Given the description of an element on the screen output the (x, y) to click on. 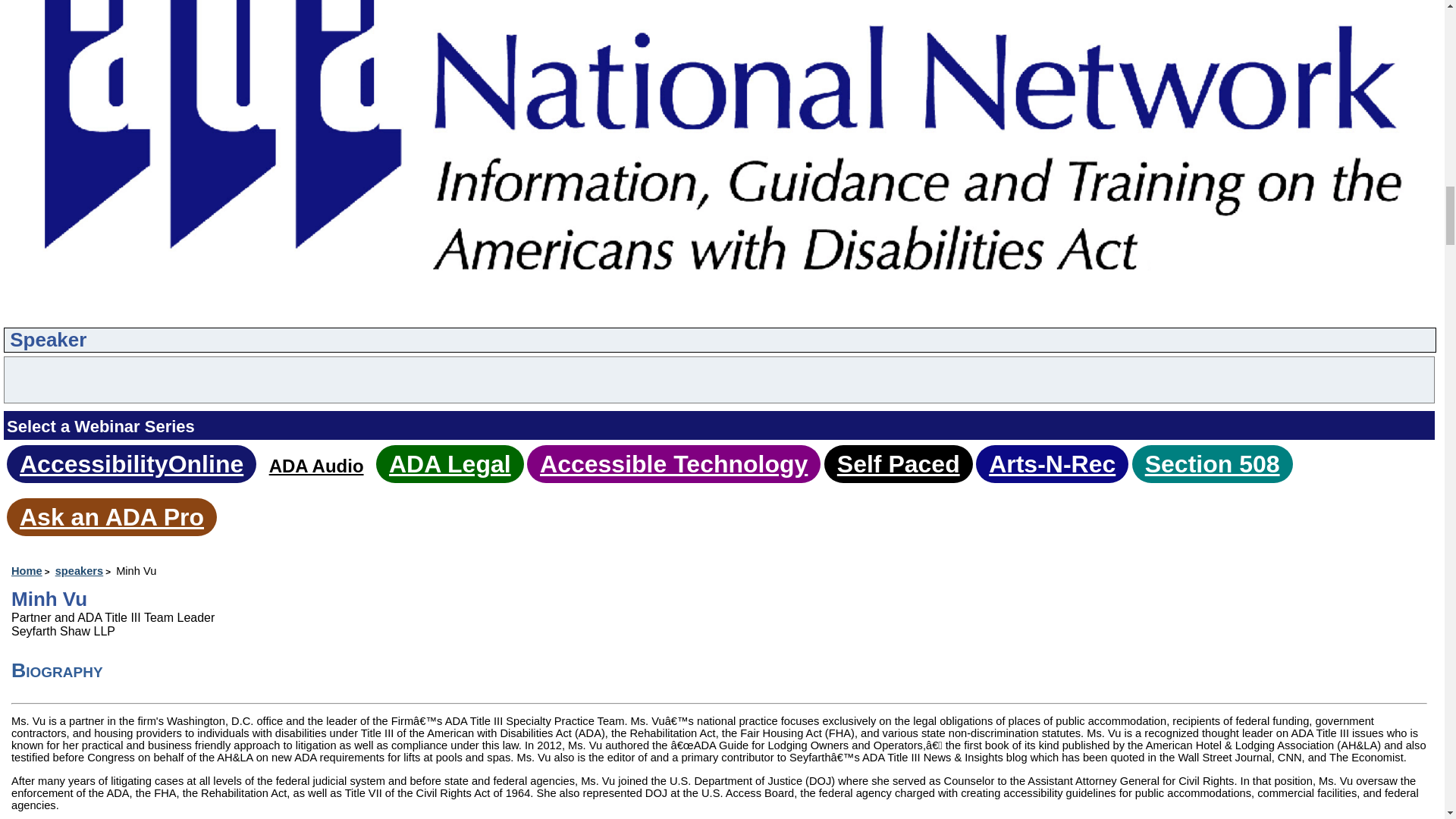
ADA Audio (316, 465)
Self Paced (898, 463)
Ask an ADA Pro (111, 516)
Accessible Technology (674, 463)
speakers (84, 571)
Home (31, 571)
Section 508 (1211, 463)
AccessibilityOnline (131, 463)
ADA Legal (449, 463)
